Given the description of an element on the screen output the (x, y) to click on. 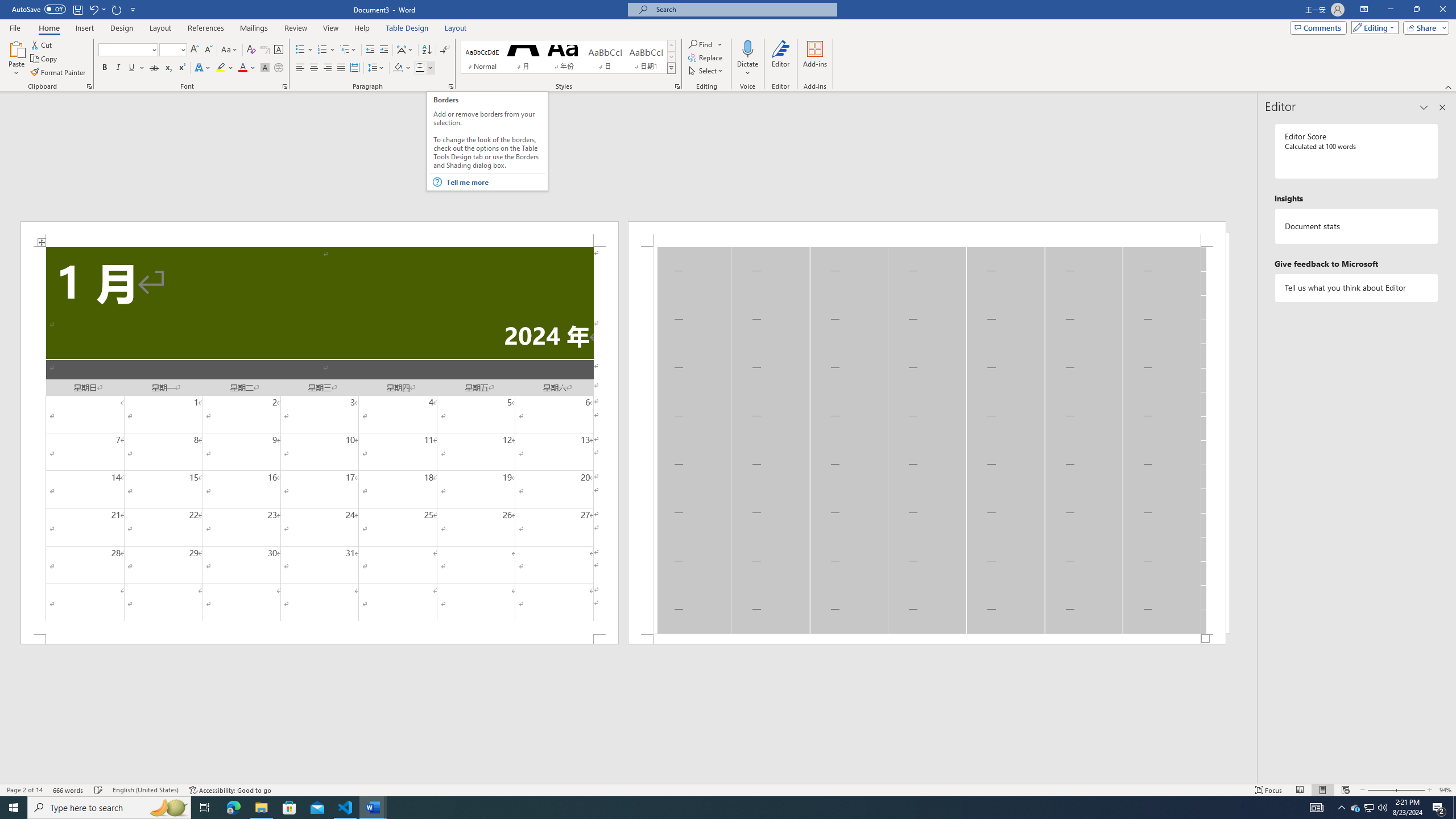
Office Clipboard... (88, 85)
Justify (340, 67)
Strikethrough (154, 67)
Line and Paragraph Spacing (376, 67)
Text Highlight Color Yellow (220, 67)
Font Color (246, 67)
Row up (670, 45)
